Given the description of an element on the screen output the (x, y) to click on. 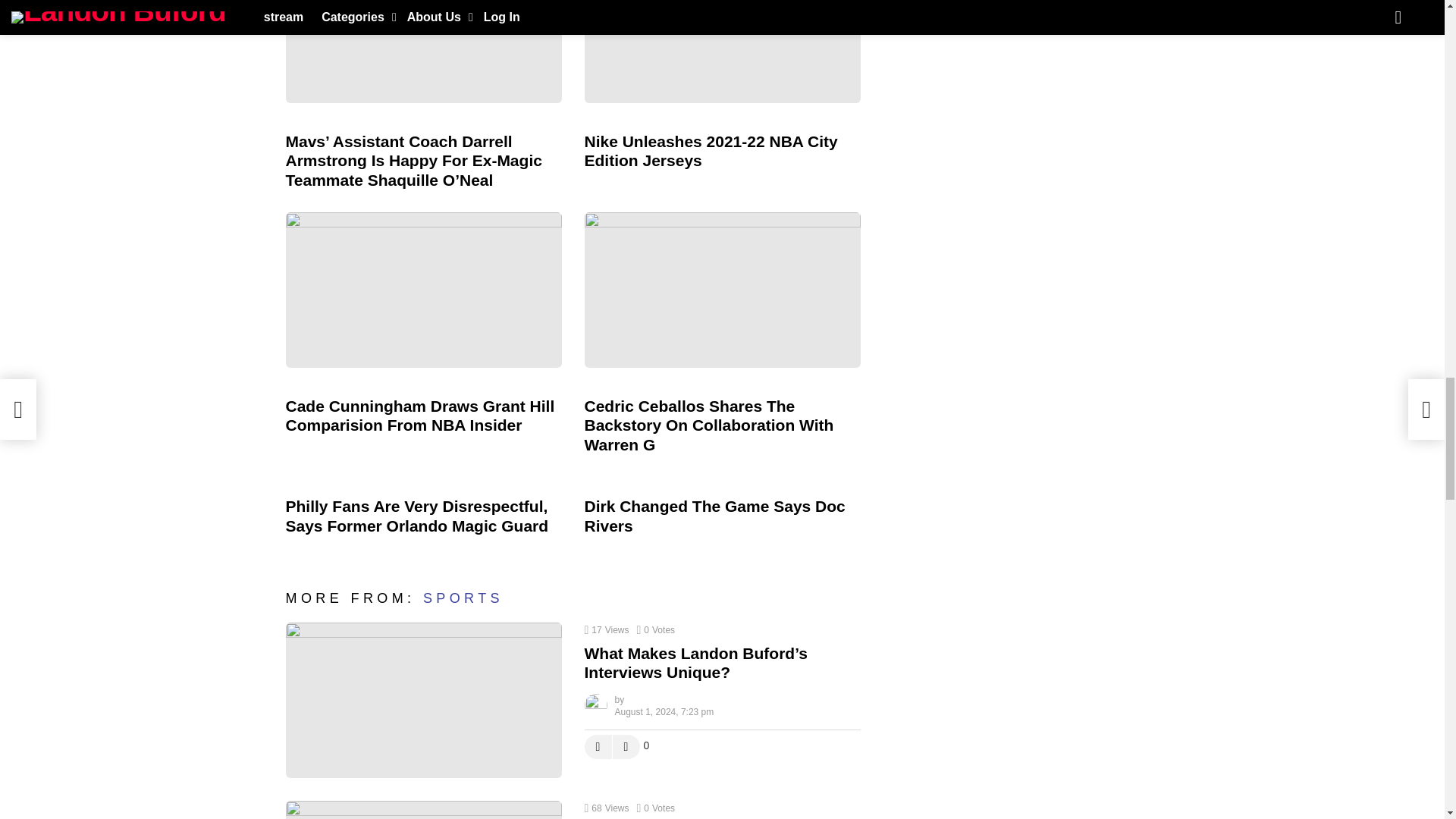
Downvote (626, 746)
How is Sports Journalism Changing in the Digital Age? (422, 809)
Nike Unleashes 2021-22 NBA City Edition Jerseys (721, 51)
Upvote (597, 746)
